Given the description of an element on the screen output the (x, y) to click on. 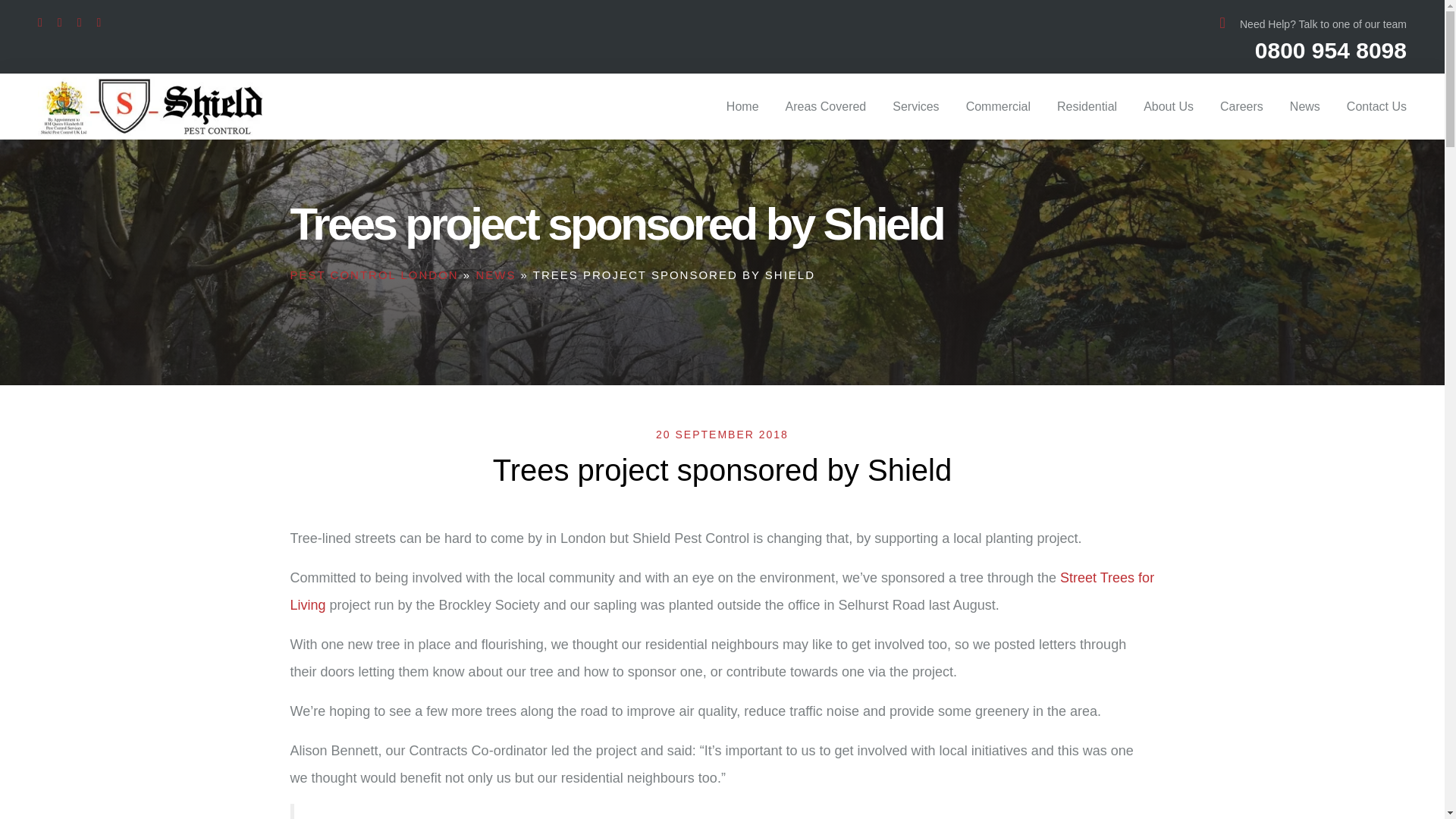
Commercial (998, 106)
0800 954 8098 (1330, 50)
Areas Covered (826, 106)
